Given the description of an element on the screen output the (x, y) to click on. 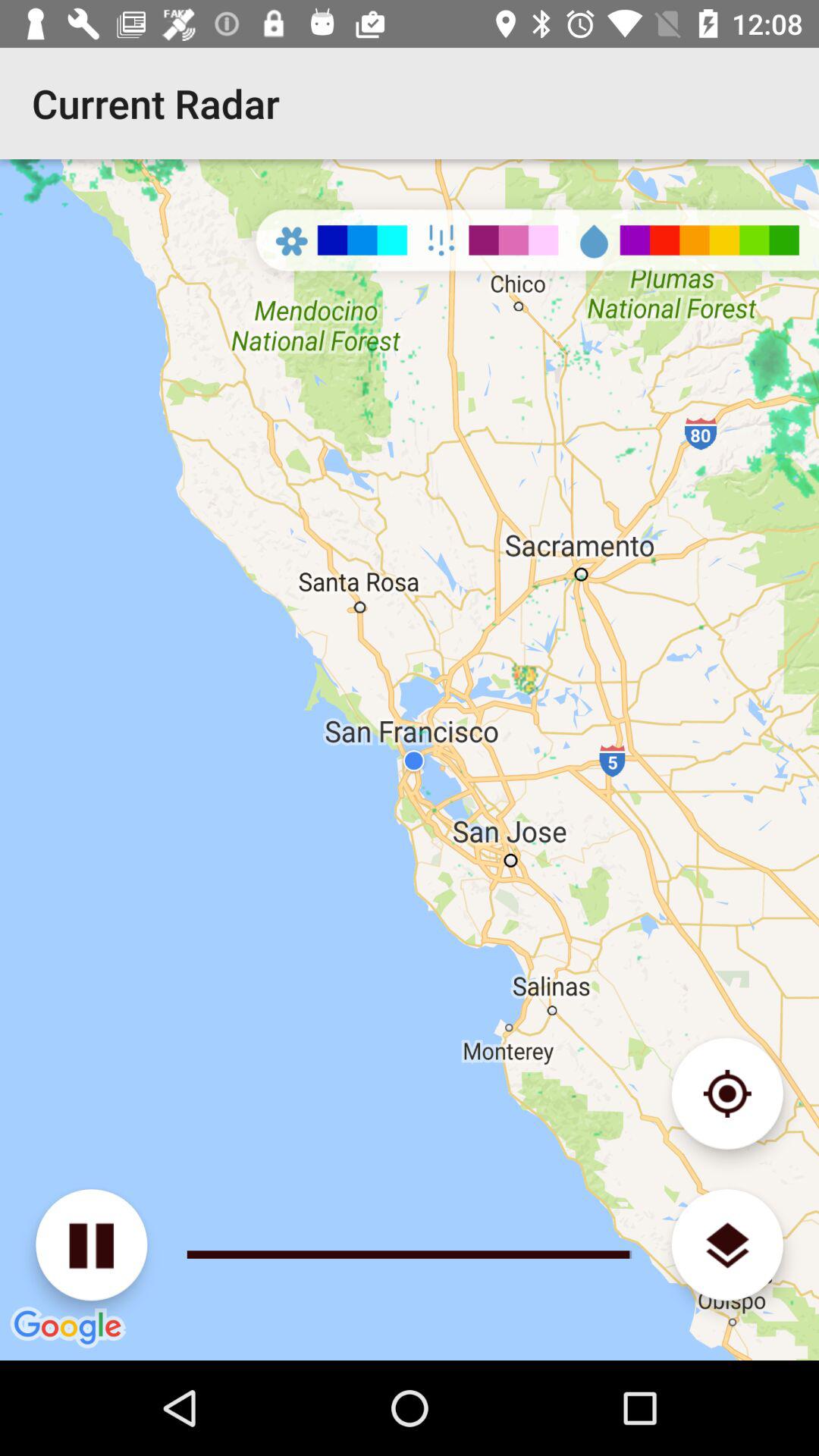
find my location (727, 1093)
